Given the description of an element on the screen output the (x, y) to click on. 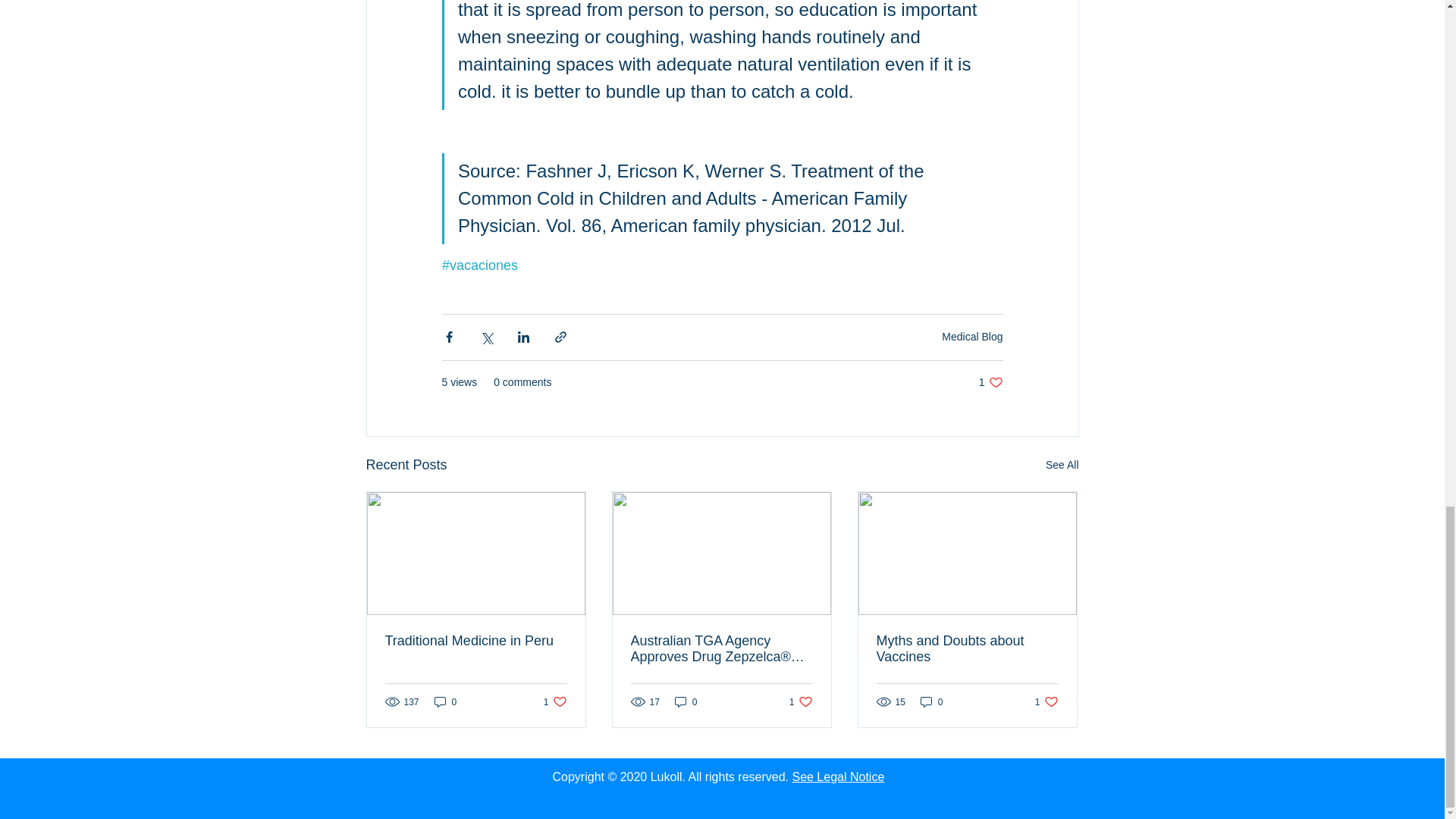
Medical Blog (972, 336)
Traditional Medicine in Peru (476, 641)
0 (685, 701)
See All (1061, 464)
0 (555, 701)
